Given the description of an element on the screen output the (x, y) to click on. 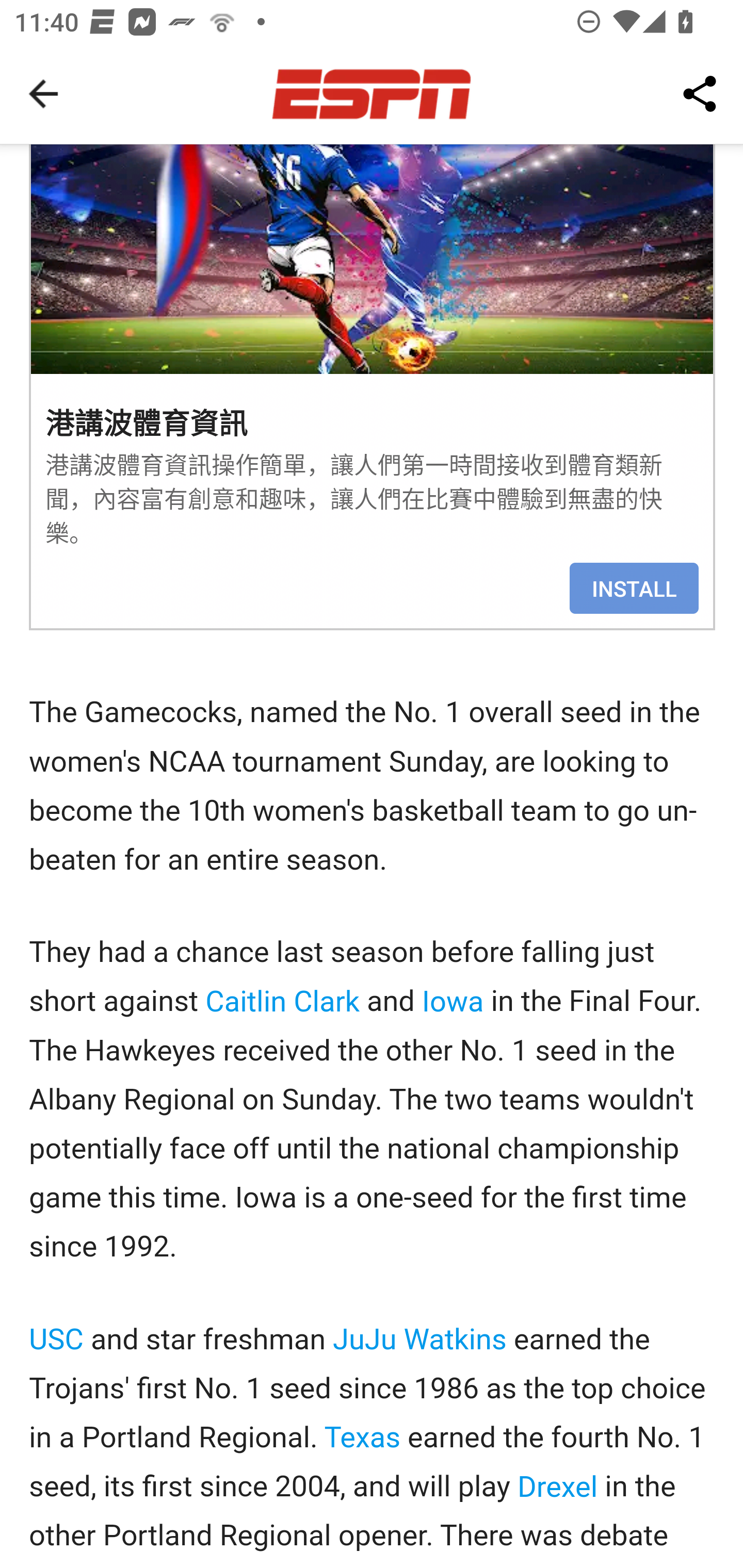
Caitlin Clark (282, 1001)
Iowa (451, 1001)
USC (56, 1340)
JuJu Watkins (419, 1340)
Texas (362, 1438)
Drexel (557, 1486)
